Given the description of an element on the screen output the (x, y) to click on. 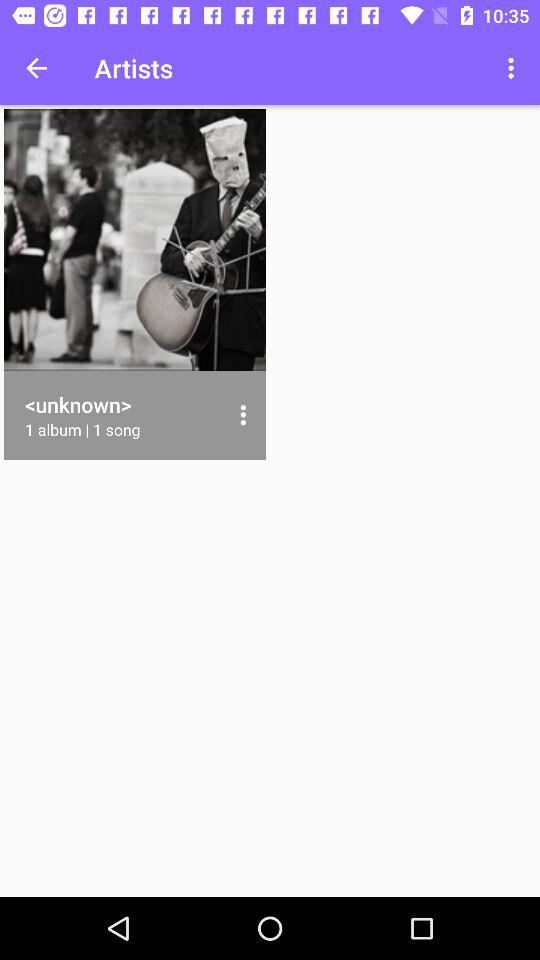
click icon to the left of the artists (36, 68)
